Given the description of an element on the screen output the (x, y) to click on. 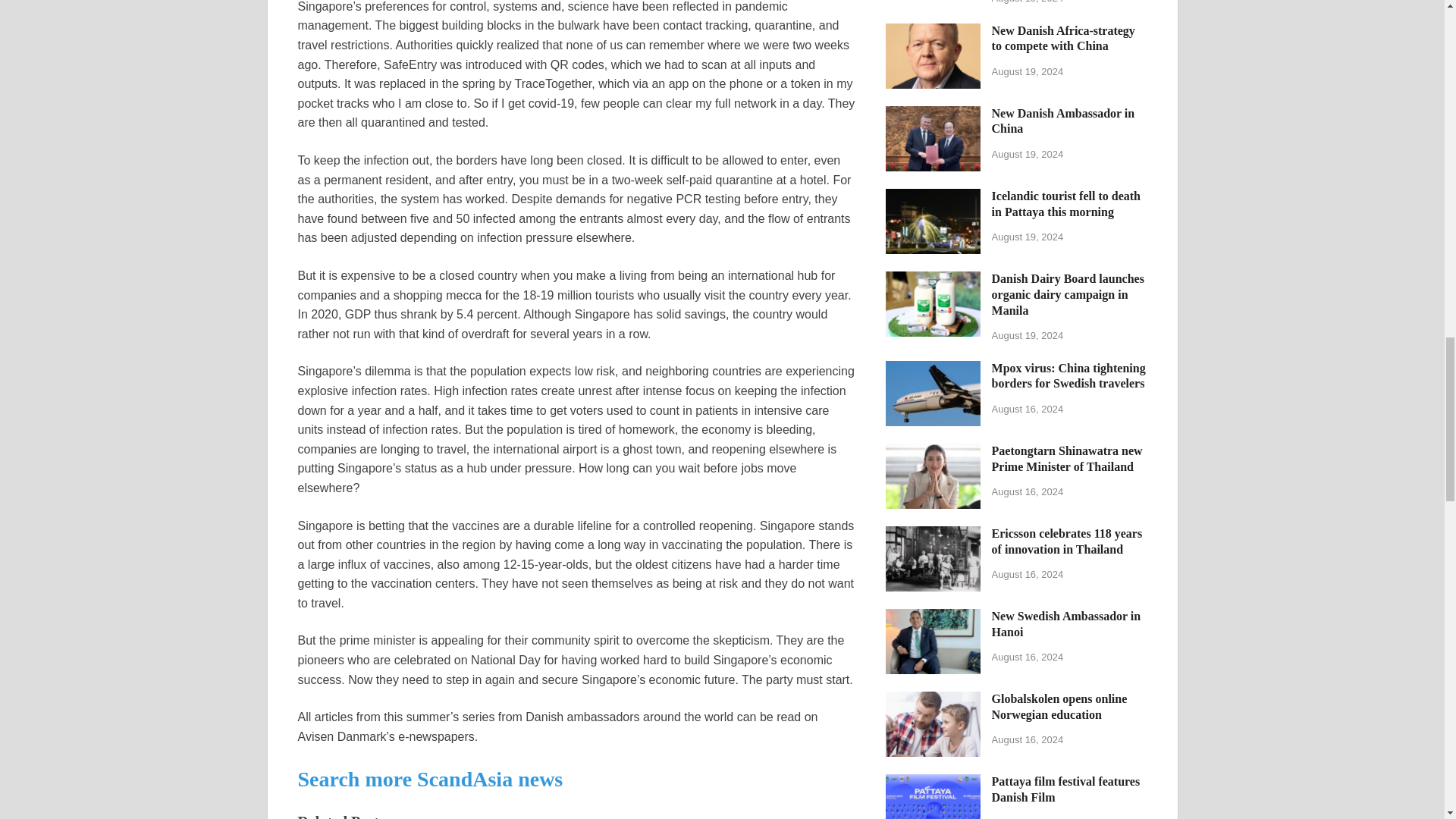
Icelandic tourist fell to death in Pattaya this morning (932, 196)
New Swedish Ambassador in Hanoi (932, 617)
New Danish Ambassador in China (932, 114)
Danish Dairy Board launches organic dairy campaign in Manila (932, 279)
Ericsson celebrates 118 years of innovation in Thailand (932, 534)
Globalskolen opens online Norwegian education (932, 699)
Paetongtarn Shinawatra new Prime Minister of Thailand (932, 451)
Pattaya film festival features Danish Film (932, 782)
New Danish Africa-strategy to compete with China (932, 31)
Mpox virus: China tightening borders for Swedish travelers (932, 369)
